Given the description of an element on the screen output the (x, y) to click on. 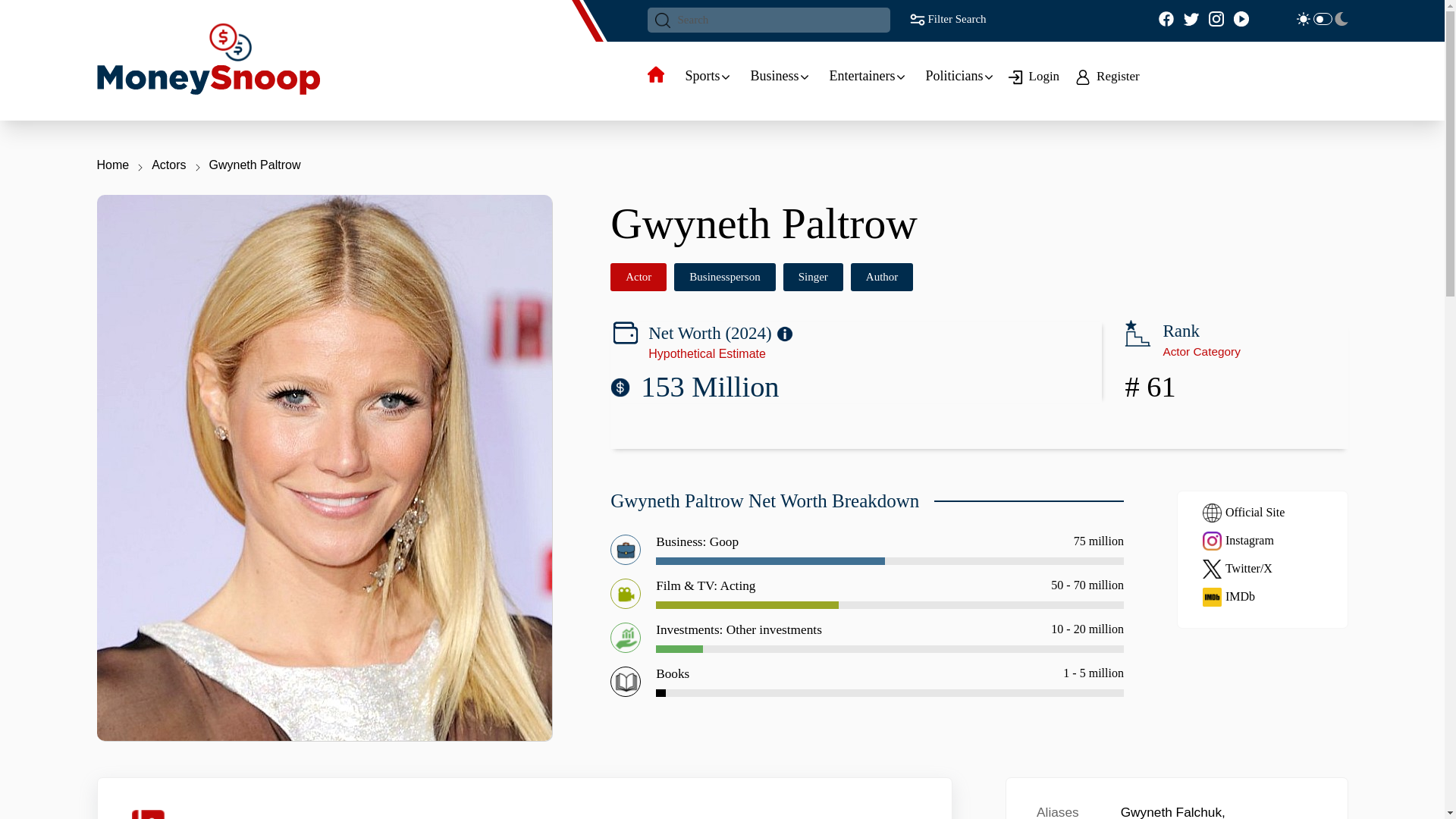
Business (775, 75)
View all Actors (1149, 386)
Filter Search (946, 18)
Main profession (638, 276)
Politicians (953, 75)
Sports (702, 75)
View all Actors (1200, 350)
Login (1036, 76)
Entertainers (862, 75)
Register (1110, 76)
